Given the description of an element on the screen output the (x, y) to click on. 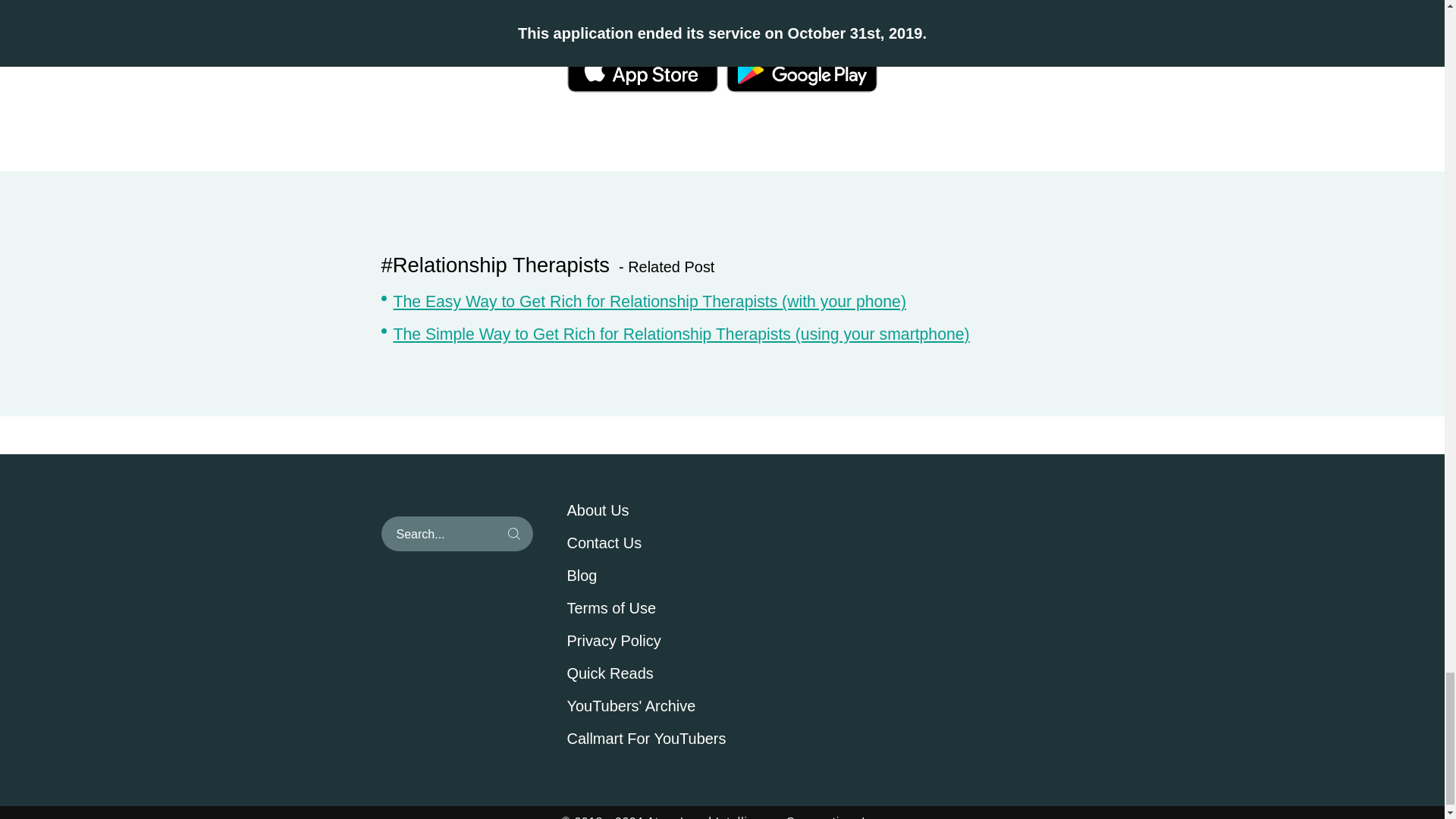
Quick Reads (676, 673)
Blog (676, 576)
Terms of Use (676, 608)
About Us (676, 510)
Privacy Policy (676, 640)
YouTubers' Archive (676, 706)
Contact Us (676, 543)
Callmart For YouTubers (676, 739)
